Given the description of an element on the screen output the (x, y) to click on. 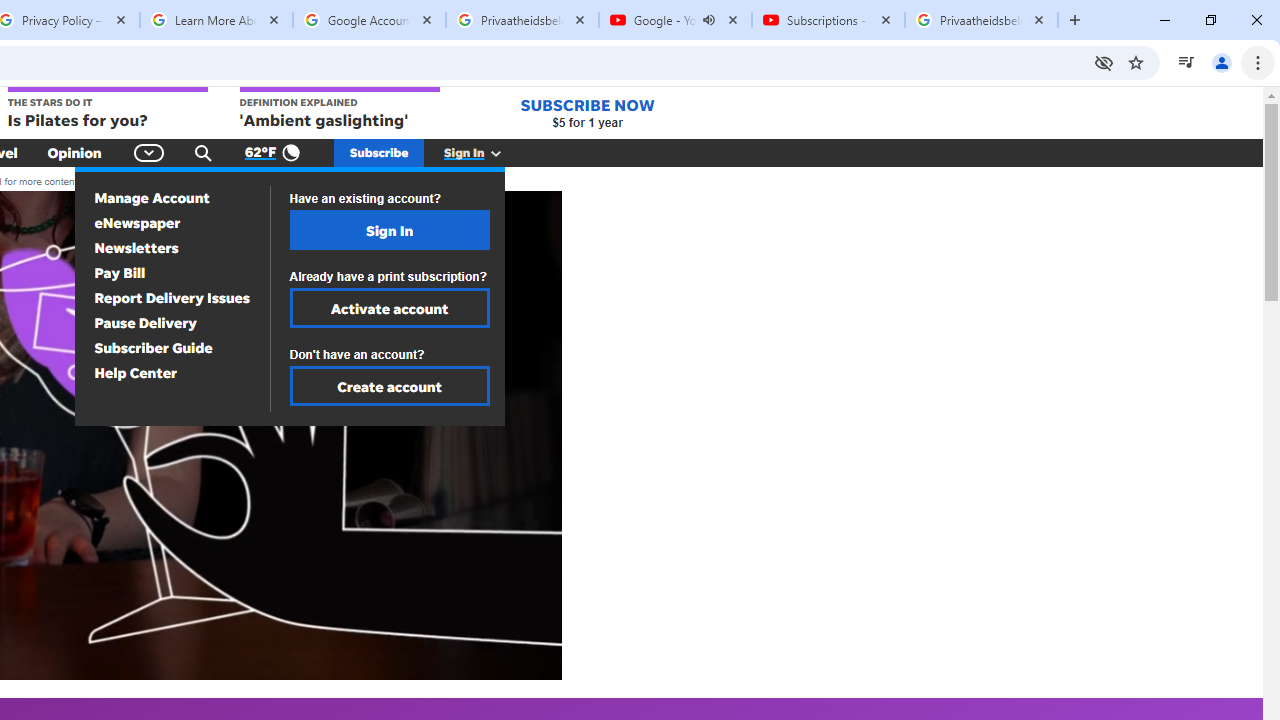
Pay Bill (120, 273)
Create account (389, 385)
Subscribe (379, 152)
Subscriber Guide (153, 348)
Activate account (389, 308)
Sign In (389, 229)
Global Navigation (149, 152)
Subscriptions - YouTube (827, 20)
Report Delivery Issues (172, 297)
